Given the description of an element on the screen output the (x, y) to click on. 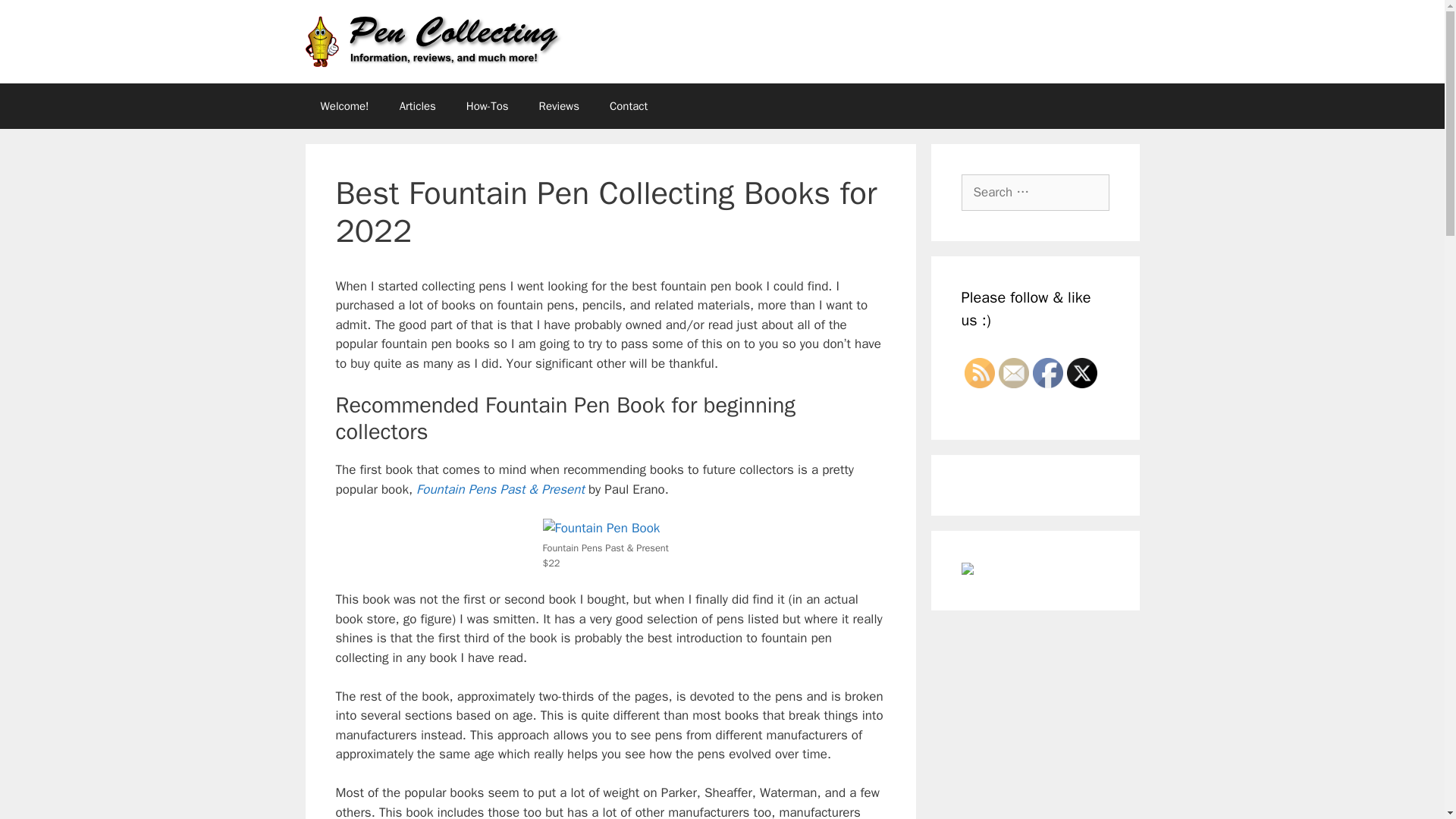
Follow by Email (1012, 372)
Reviews (559, 105)
How-Tos (487, 105)
Articles (417, 105)
RSS (978, 372)
Contact (628, 105)
Welcome! (344, 105)
Search (35, 18)
Search for: (1034, 192)
Facebook (1047, 372)
Twitter (1080, 372)
